Given the description of an element on the screen output the (x, y) to click on. 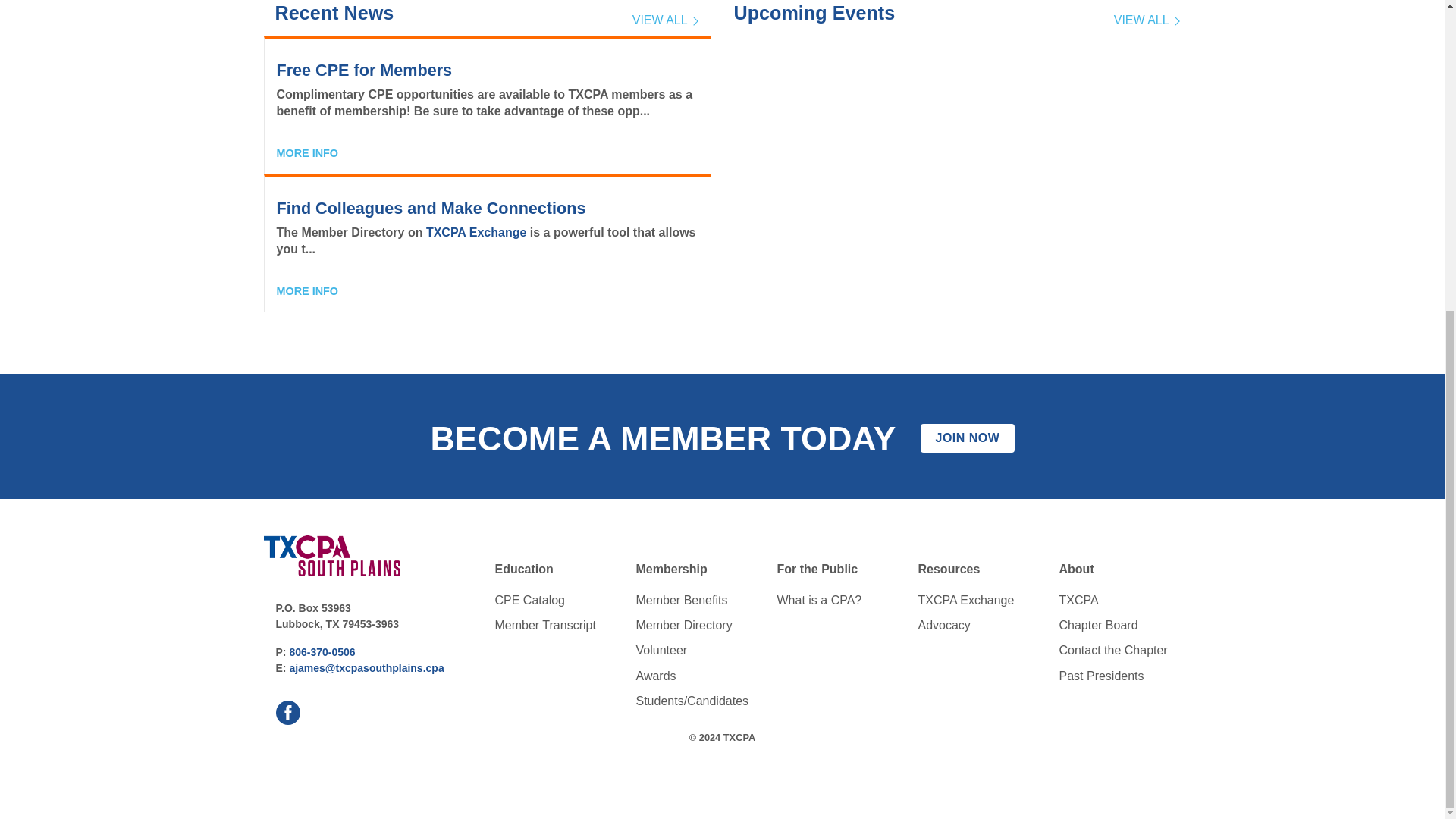
MORE INFO (306, 291)
logo (331, 555)
VIEW ALL (1145, 24)
VIEW ALL (664, 24)
TXCPA Exchange (475, 232)
Free CPE for Members (363, 69)
Find Colleagues and Make Connections (430, 208)
MORE INFO (306, 152)
